Given the description of an element on the screen output the (x, y) to click on. 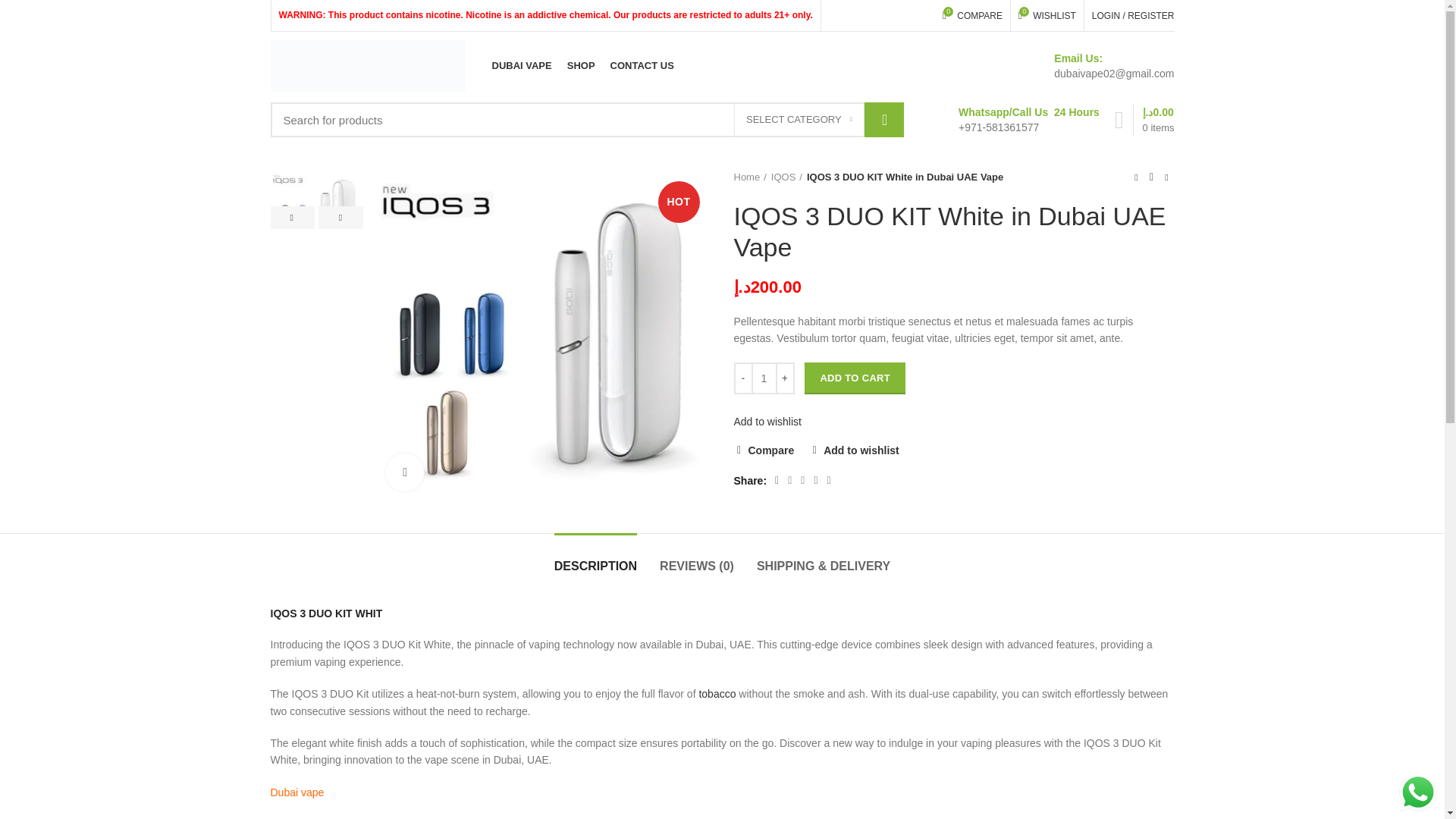
DUBAI VAPE (521, 65)
My account (1133, 15)
PREVIOUS (291, 217)
CONTACT US (641, 65)
Previous product (1135, 177)
SEARCH (884, 119)
SELECT CATEGORY (798, 119)
Search for products (972, 15)
IQOS (585, 119)
